Given the description of an element on the screen output the (x, y) to click on. 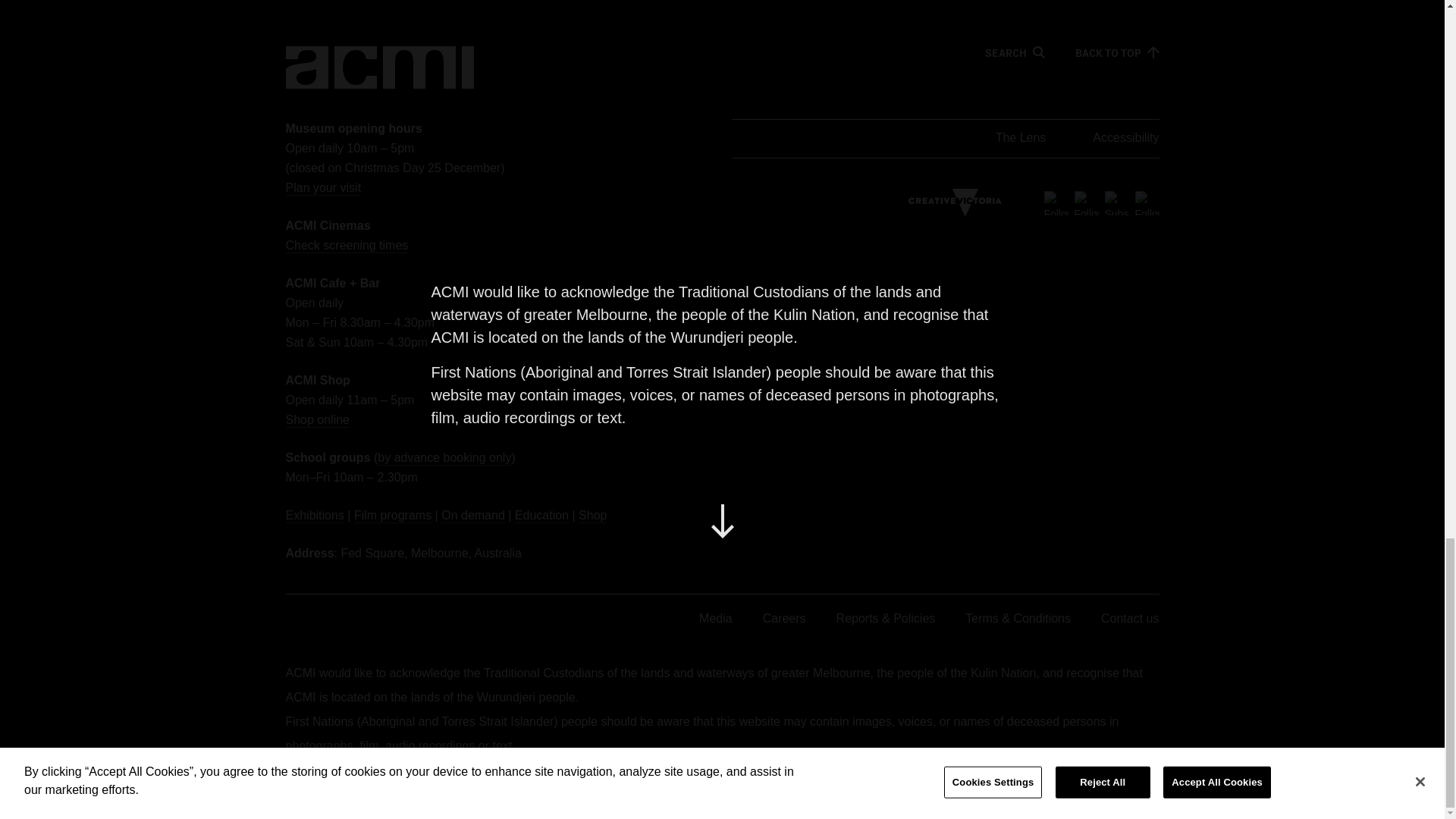
Follow ACMI on Instagram (1146, 202)
Subscribe to ACMI's YouTube channel (1115, 202)
View Creative Victoria website (954, 203)
Follow ACMI on X (1055, 202)
Follow ACMI on Facebook (1085, 202)
